Given the description of an element on the screen output the (x, y) to click on. 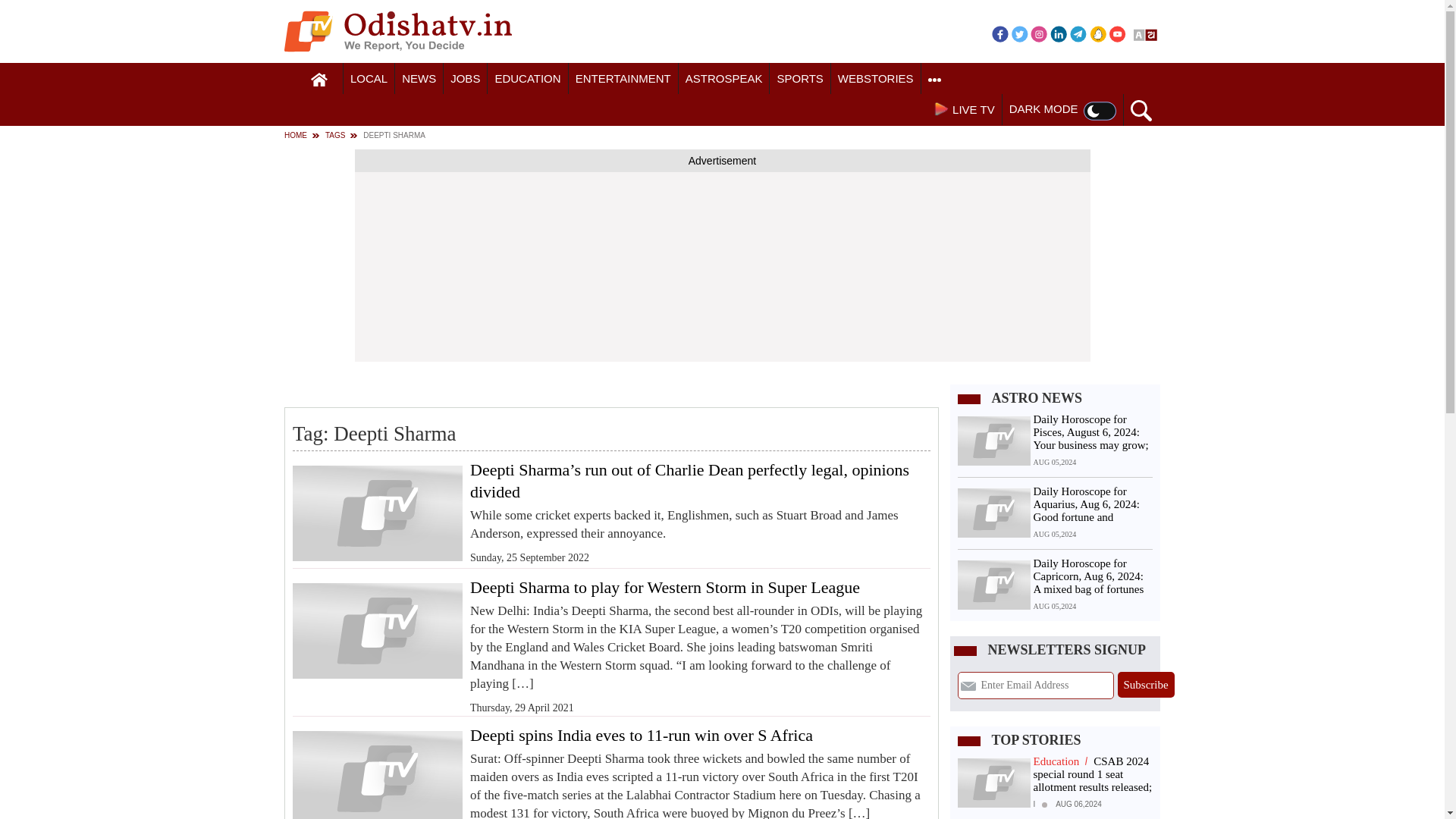
Youtube (1117, 33)
Home Icon (319, 79)
Telegram (1078, 33)
Koo (1097, 33)
JOBS (465, 78)
Twitter (1019, 33)
OdishaTV (397, 31)
EDUCATION (527, 78)
ENTERTAINMENT (623, 78)
LinkedIn (1058, 33)
